Given the description of an element on the screen output the (x, y) to click on. 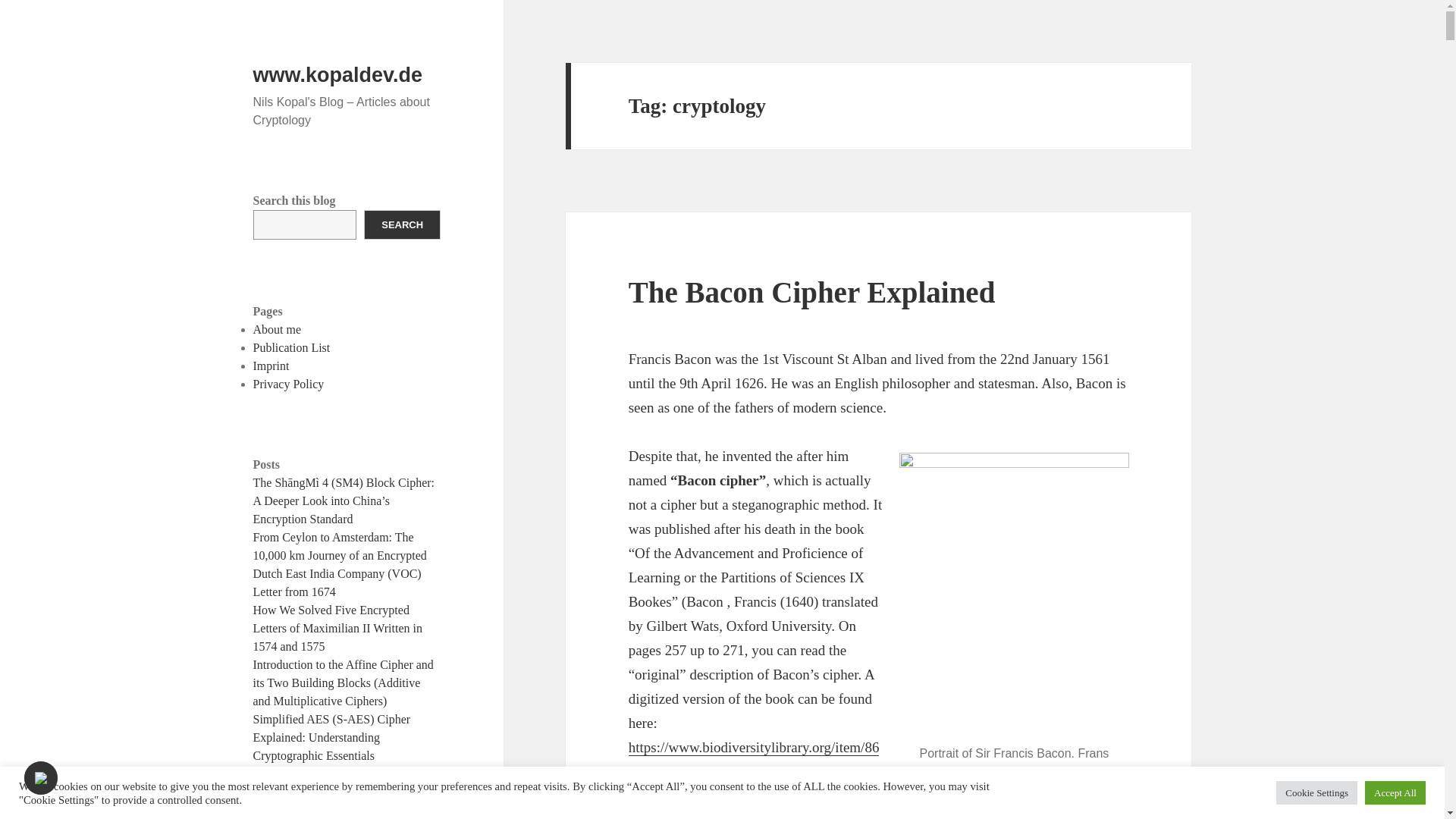
Privacy Policy (288, 383)
www.kopaldev.de (338, 74)
Publication List (291, 347)
SEARCH (402, 224)
The Bacon Cipher Explained (811, 292)
About me (277, 328)
Imprint (271, 365)
